Given the description of an element on the screen output the (x, y) to click on. 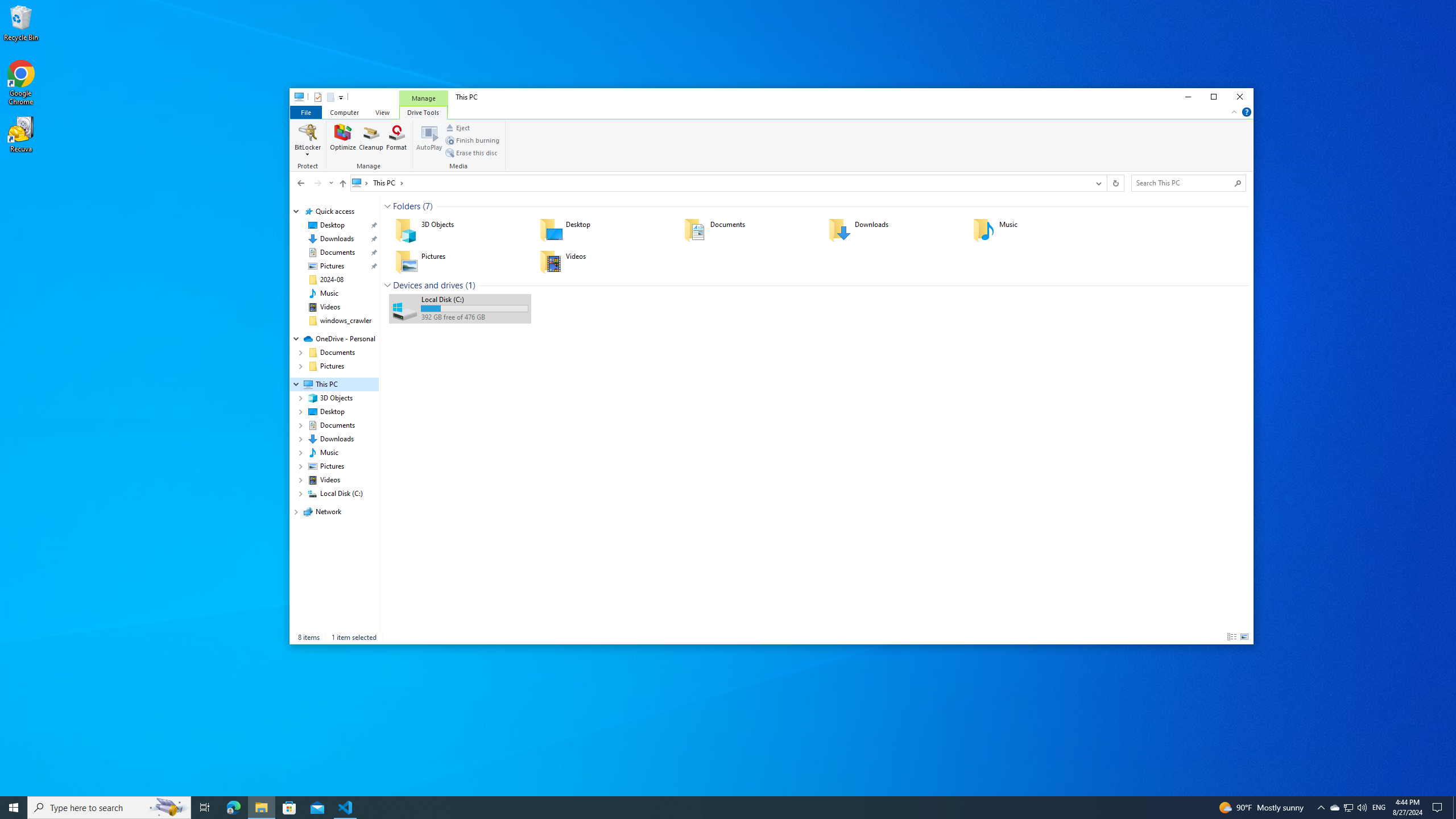
Manage (423, 97)
Media (459, 145)
Forward (Alt + Right Arrow) (317, 182)
Search Box (1182, 182)
Space used (474, 308)
Help (1246, 111)
2024-08 (331, 279)
System (295, 98)
Up band toolbar (342, 184)
BitLocker (307, 140)
Quick access (334, 211)
View (381, 111)
